Given the description of an element on the screen output the (x, y) to click on. 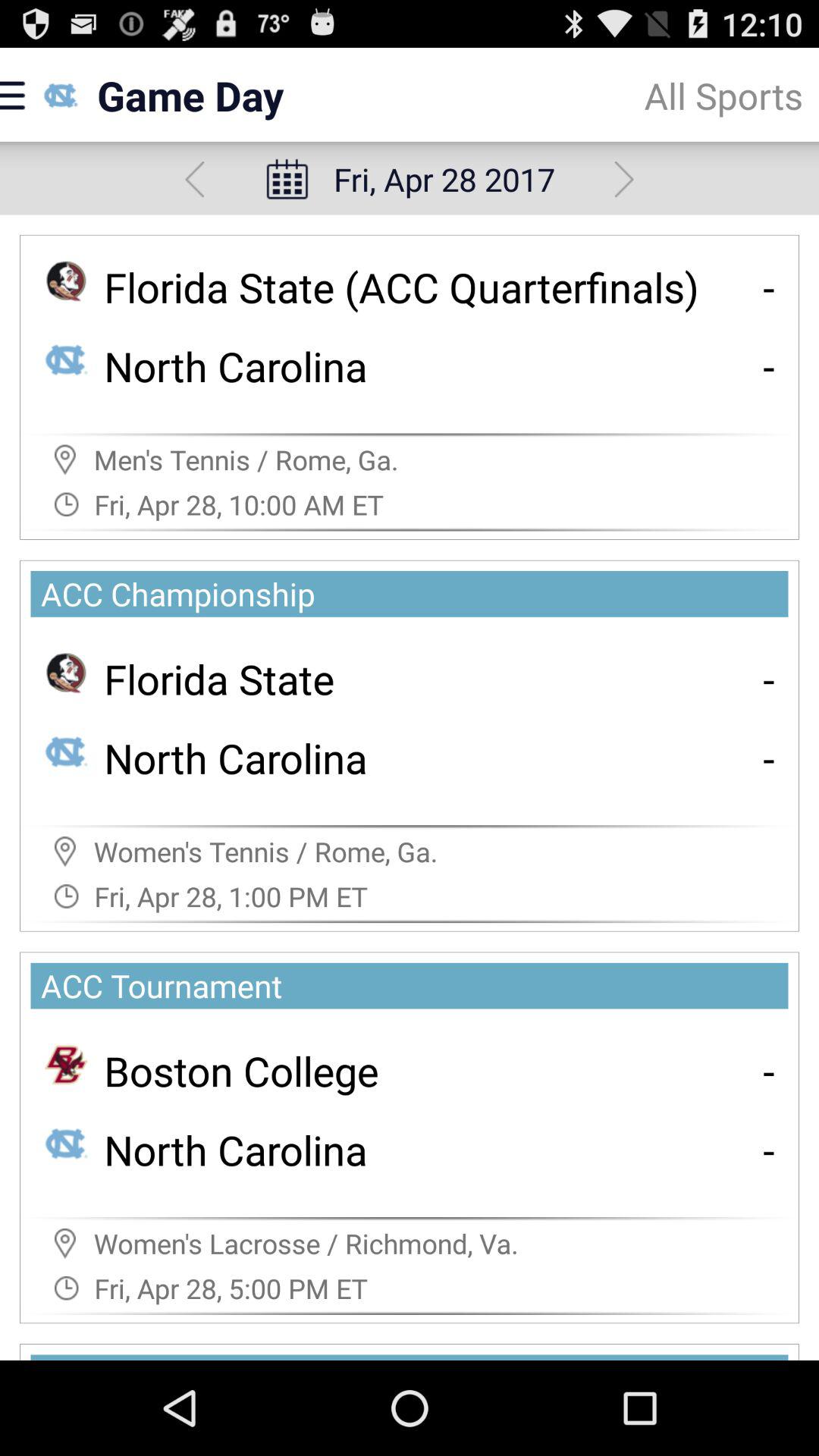
flip until the - (768, 757)
